Given the description of an element on the screen output the (x, y) to click on. 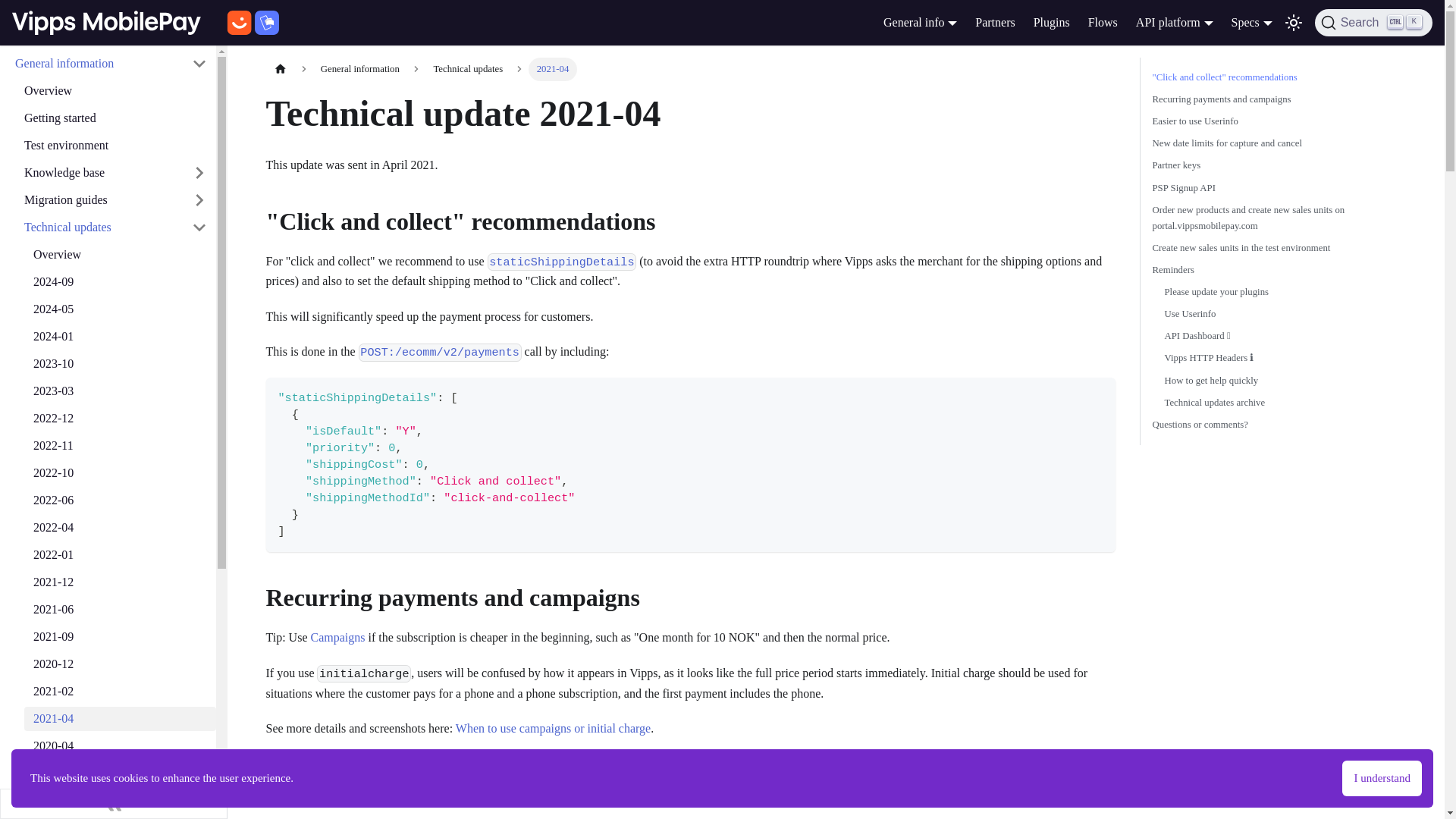
Partners (994, 22)
General info (919, 21)
API platform (1173, 21)
Specs (1251, 21)
Plugins (1051, 22)
Flows (1102, 22)
Collapse sidebar (113, 803)
